Given the description of an element on the screen output the (x, y) to click on. 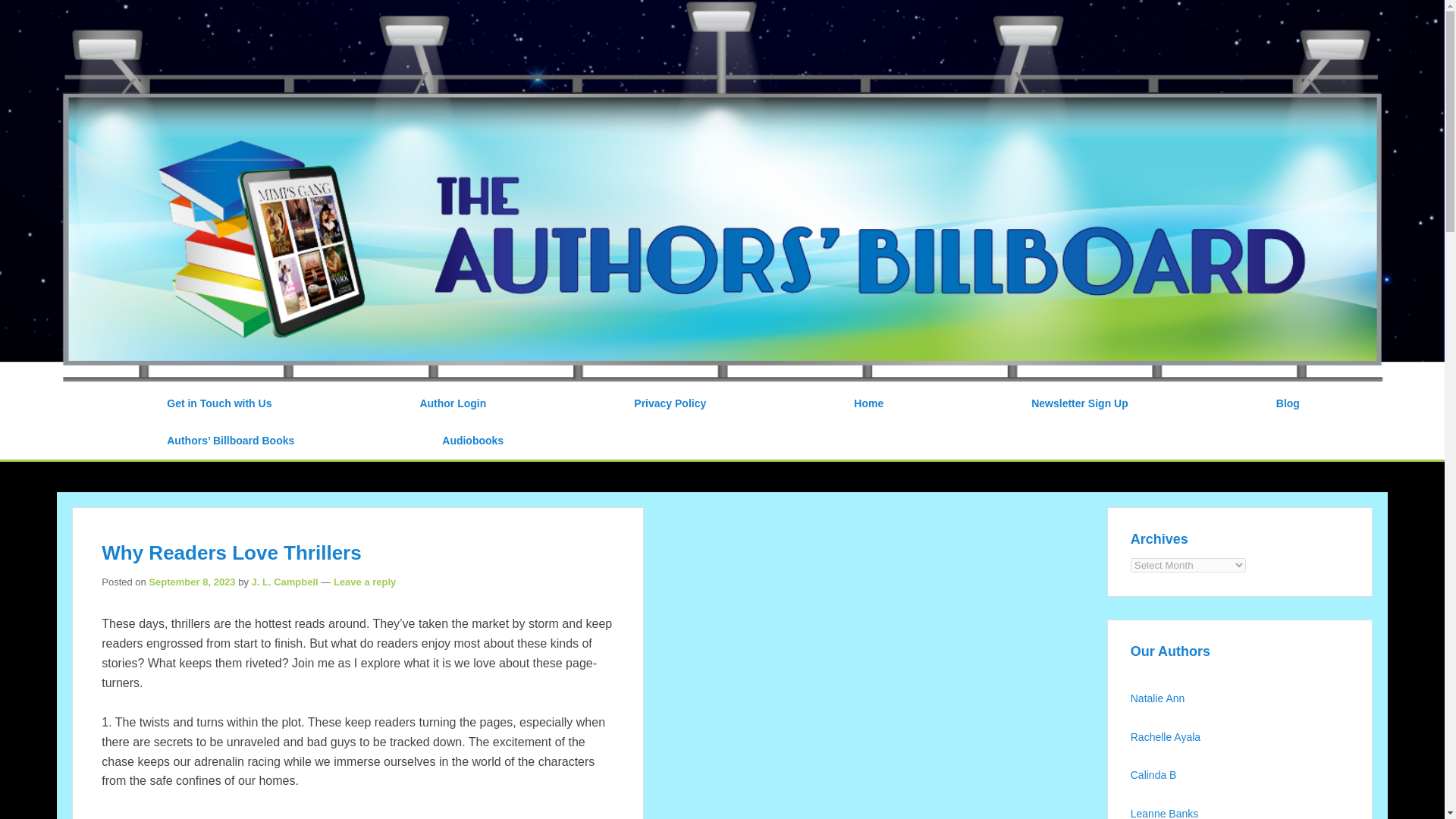
Audiobooks (472, 440)
Privacy Policy (669, 403)
Newsletter Sign Up (1079, 403)
Rachelle Ayala (1165, 736)
Leanne Banks  (1166, 813)
Author Login (452, 403)
7:05 am (191, 582)
Get in Touch with Us (218, 403)
September 8, 2023 (191, 582)
The Authors' Billboard (258, 19)
The Authors' Billboard (258, 19)
Why Readers Love Thrillers (231, 552)
Blog (1287, 403)
Natalie Ann  (1159, 698)
Home (868, 403)
